Given the description of an element on the screen output the (x, y) to click on. 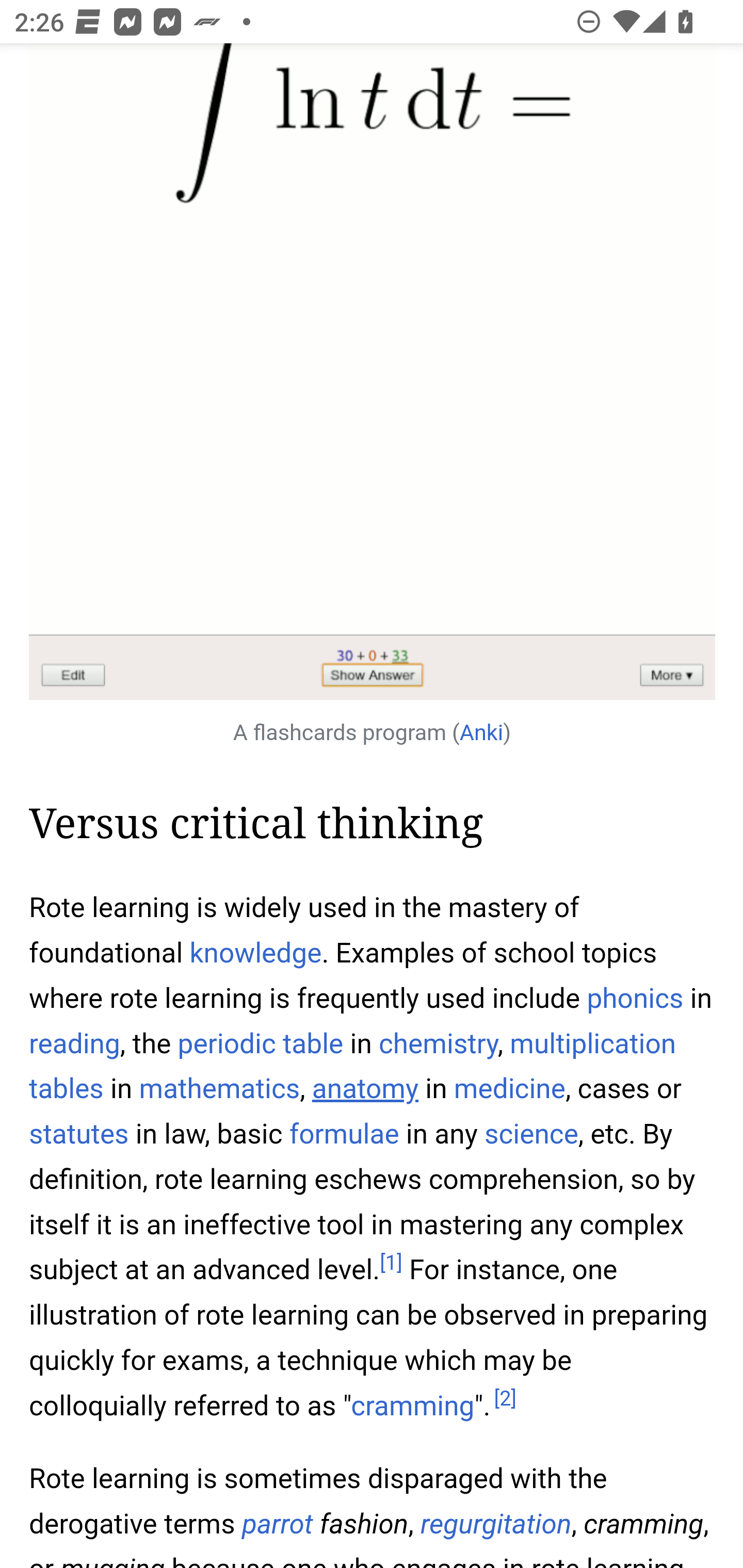
640px-Anki_flashcard_question_and_answer_math (372, 372)
Anki (480, 732)
knowledge (255, 952)
phonics (634, 998)
reading (74, 1044)
periodic table (260, 1044)
chemistry (437, 1044)
mathematics (219, 1089)
anatomy (365, 1089)
medicine (509, 1089)
statutes (79, 1134)
formulae (345, 1134)
science (531, 1134)
[] [ 1 ] (390, 1262)
[] [ 2 ] (504, 1398)
cramming (412, 1404)
parrot (276, 1523)
regurgitation (495, 1523)
